Given the description of an element on the screen output the (x, y) to click on. 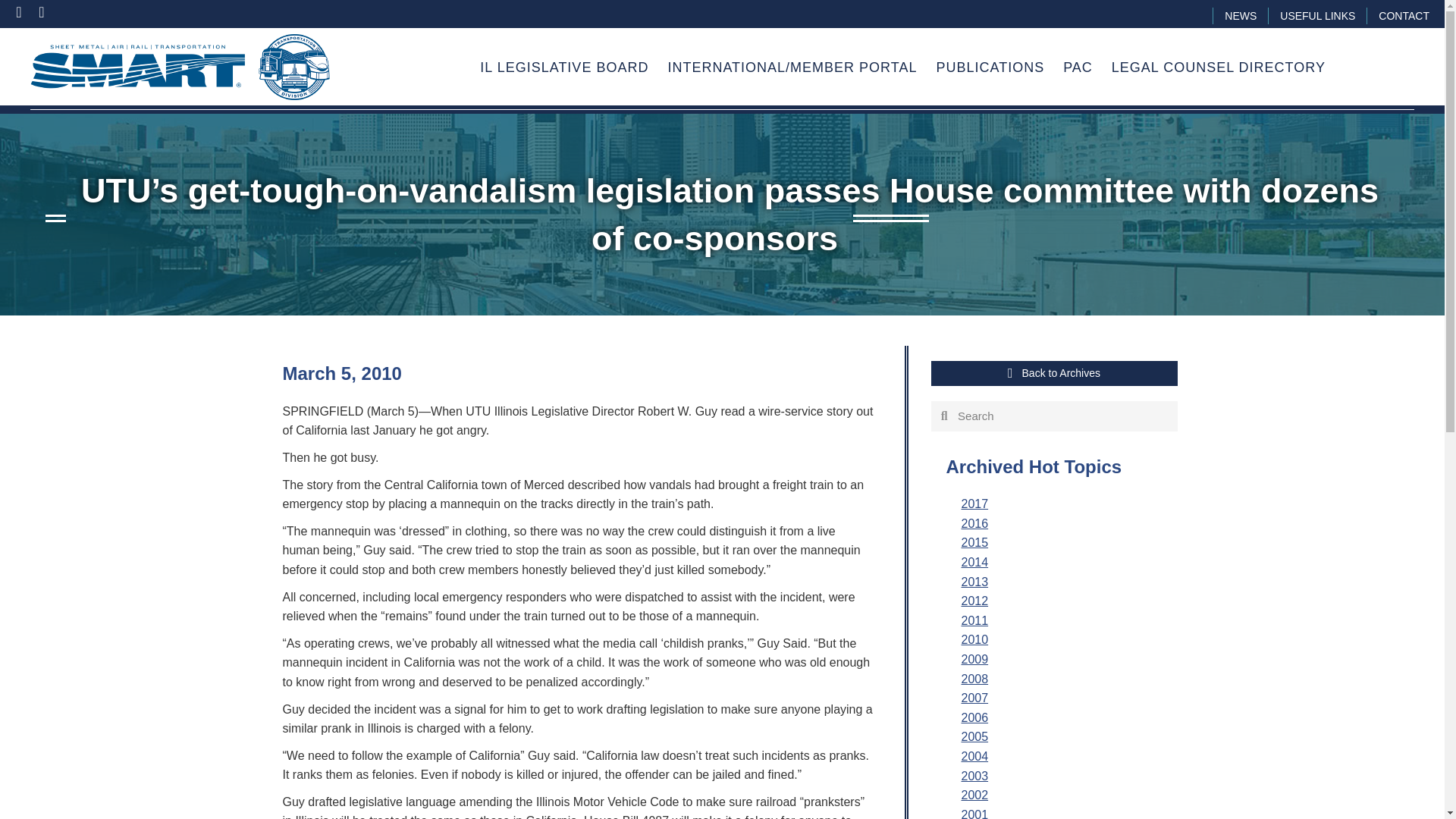
2008 (974, 678)
PUBLICATIONS (989, 68)
2013 (974, 581)
IL LEGISLATIVE BOARD (563, 68)
2011 (974, 620)
2006 (974, 717)
2005 (974, 736)
2004 (974, 756)
Back to Archives (1054, 372)
CONTACT (1404, 15)
2010 (974, 639)
2015 (974, 542)
2007 (974, 697)
2003 (974, 775)
USEFUL LINKS (1317, 15)
